Given the description of an element on the screen output the (x, y) to click on. 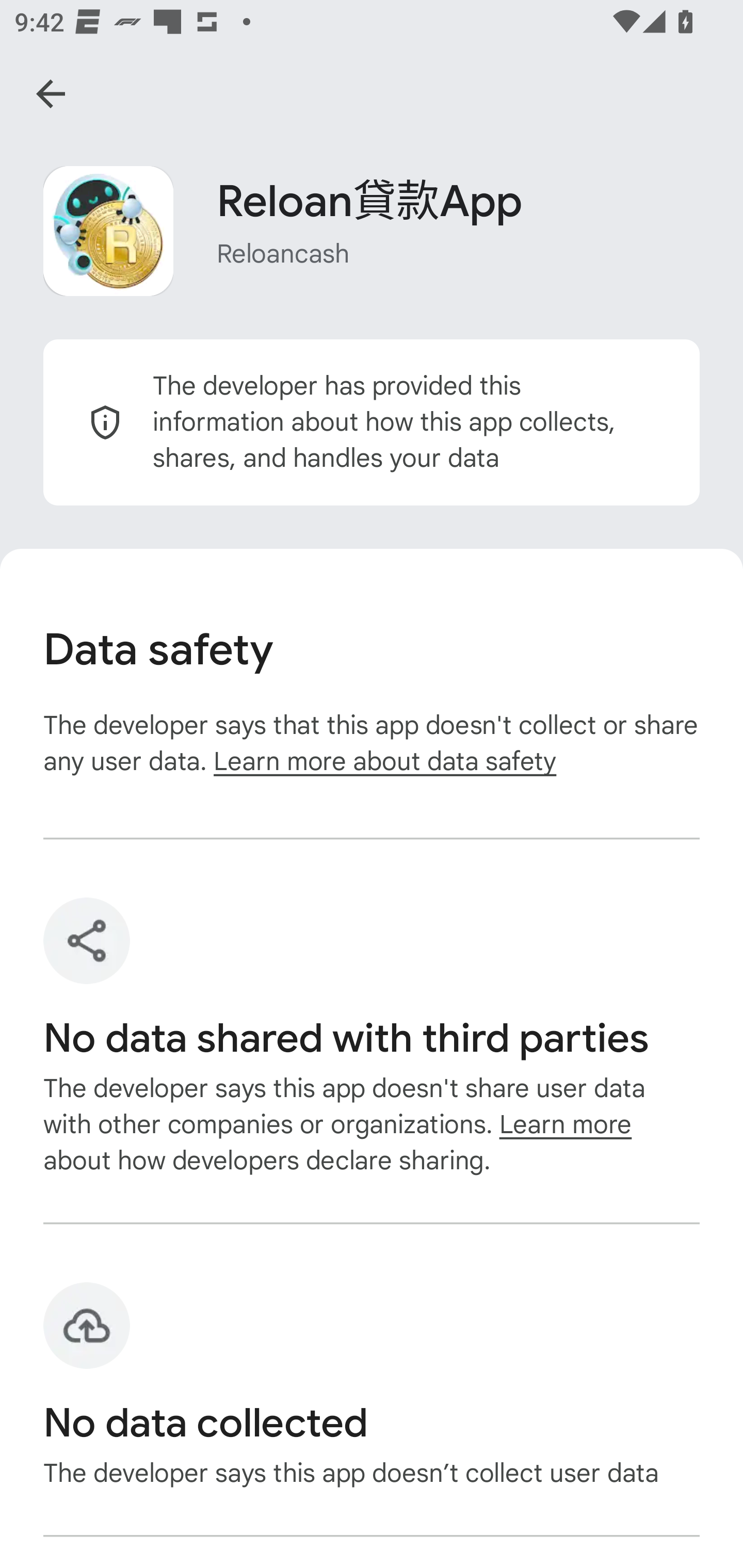
Navigate up (50, 93)
